Given the description of an element on the screen output the (x, y) to click on. 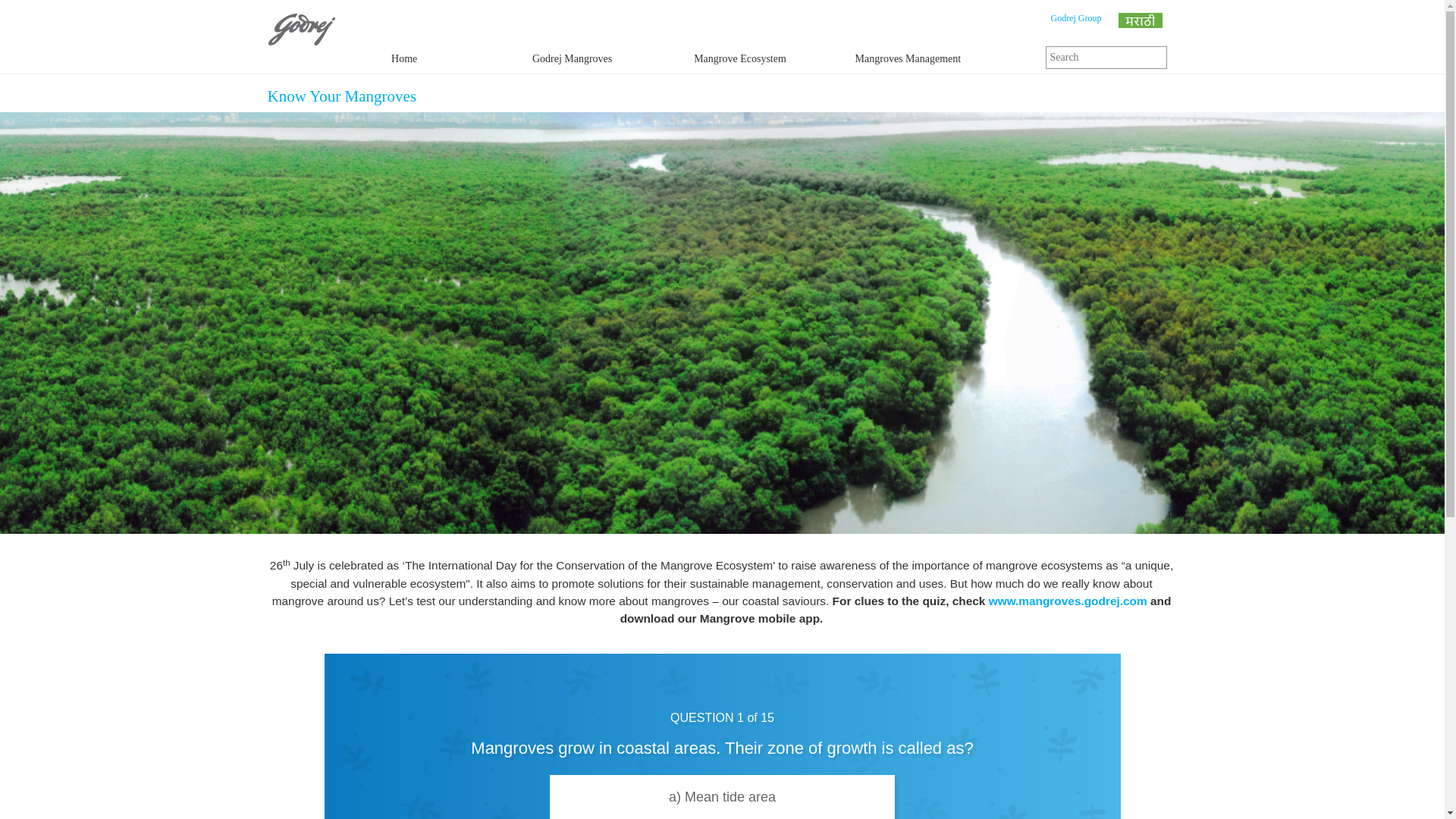
Mangrove Ecosystem (740, 58)
Search  (15, 11)
Home (403, 58)
Godrej Mangroves (571, 58)
Mangroves Management (908, 58)
Godrej Group (1076, 18)
